Given the description of an element on the screen output the (x, y) to click on. 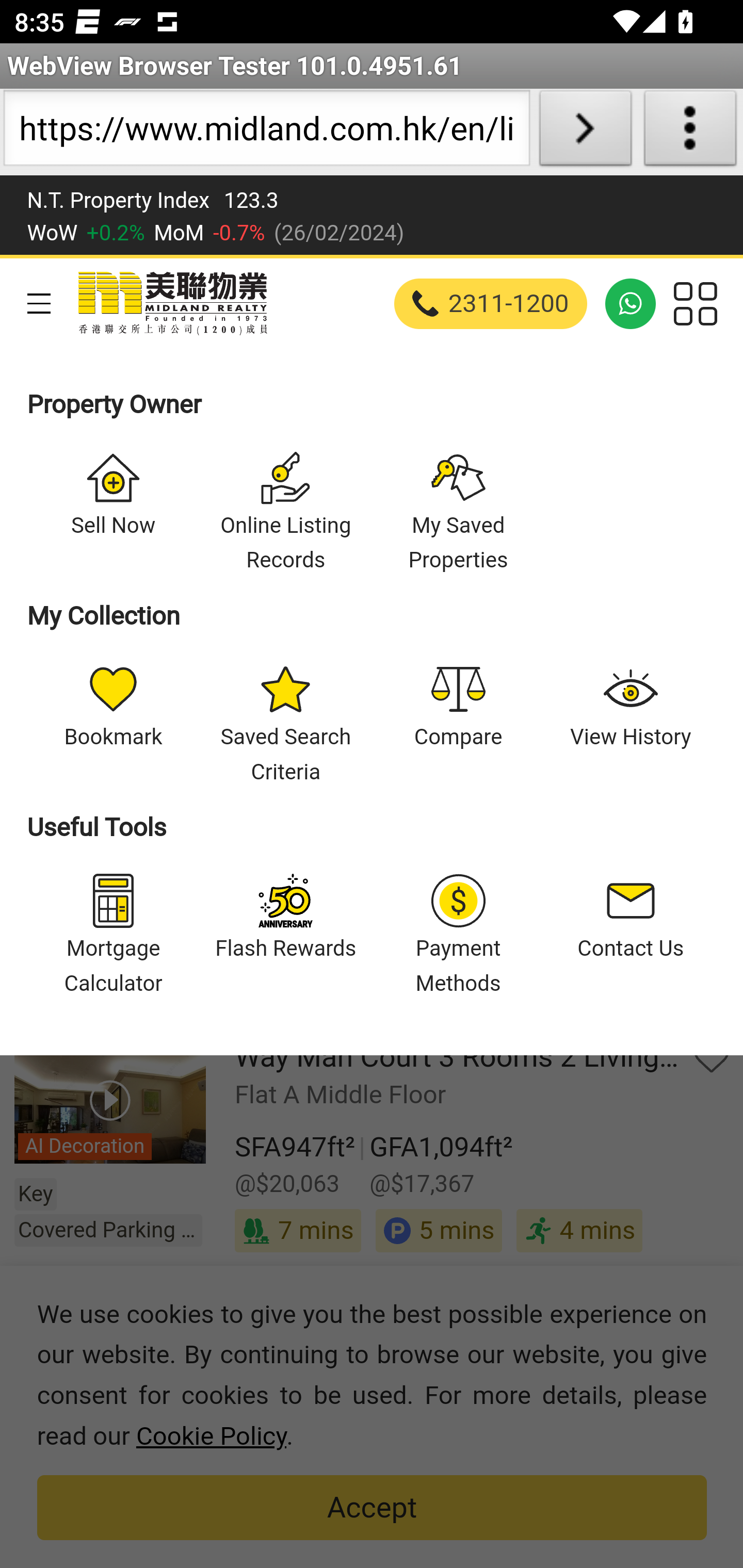
Load URL (585, 132)
About WebView (690, 132)
Midland Realty - Property Agency in Hong Kong (171, 303)
2311-1200 (490, 302)
WhatsApp: 2311-1200 (630, 302)
